Given the description of an element on the screen output the (x, y) to click on. 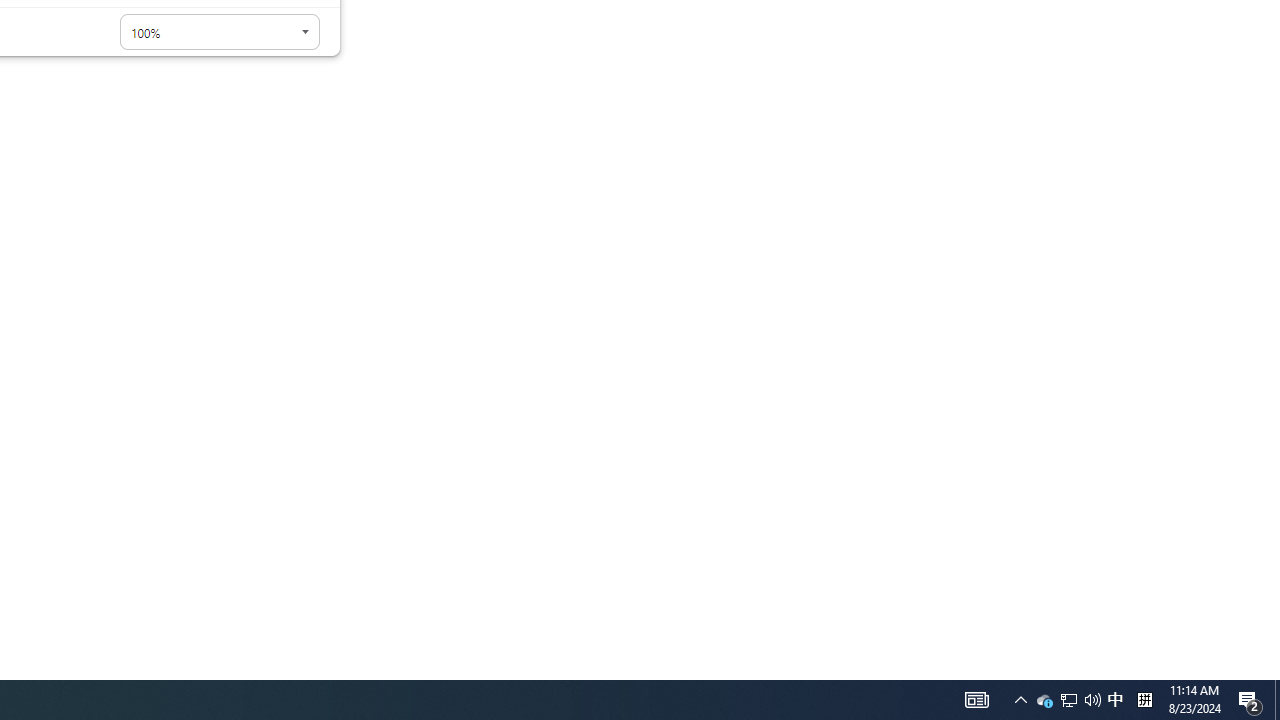
Page zoom (219, 32)
